Given the description of an element on the screen output the (x, y) to click on. 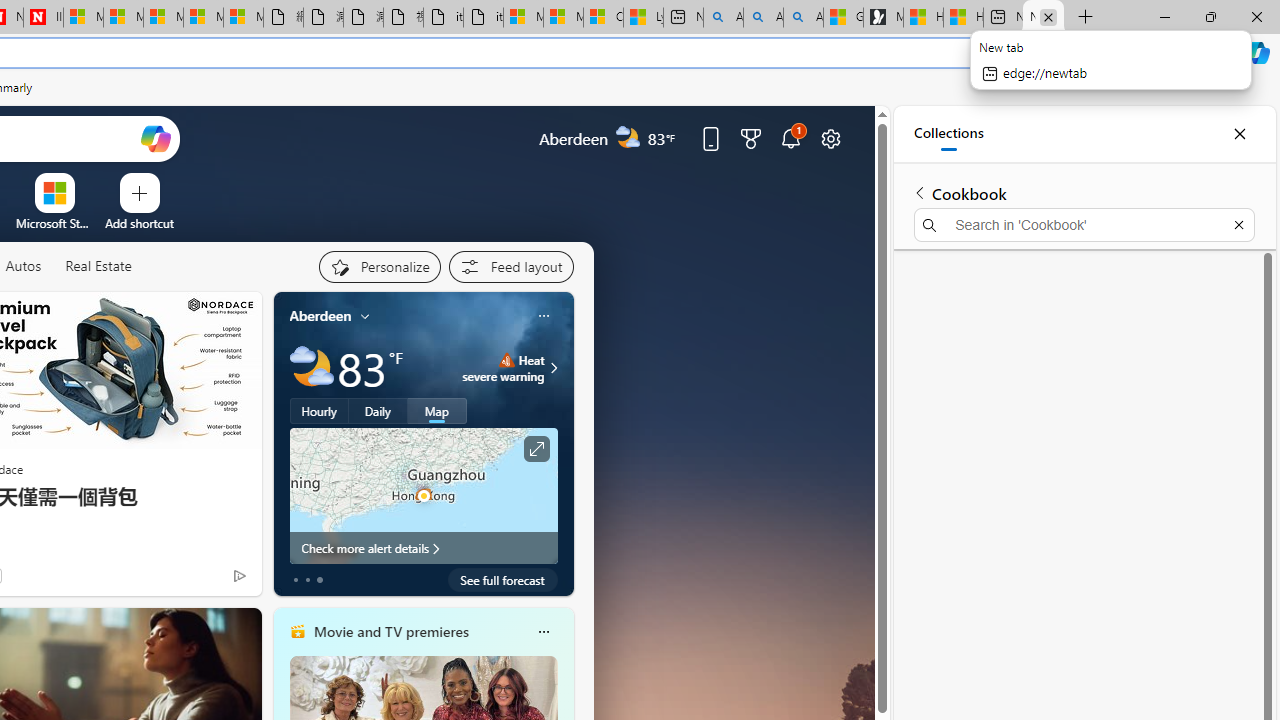
Click to see more information (536, 449)
How to Use a TV as a Computer Monitor (963, 17)
Consumer Health Data Privacy Policy (603, 17)
Back to list of collections (920, 192)
